Given the description of an element on the screen output the (x, y) to click on. 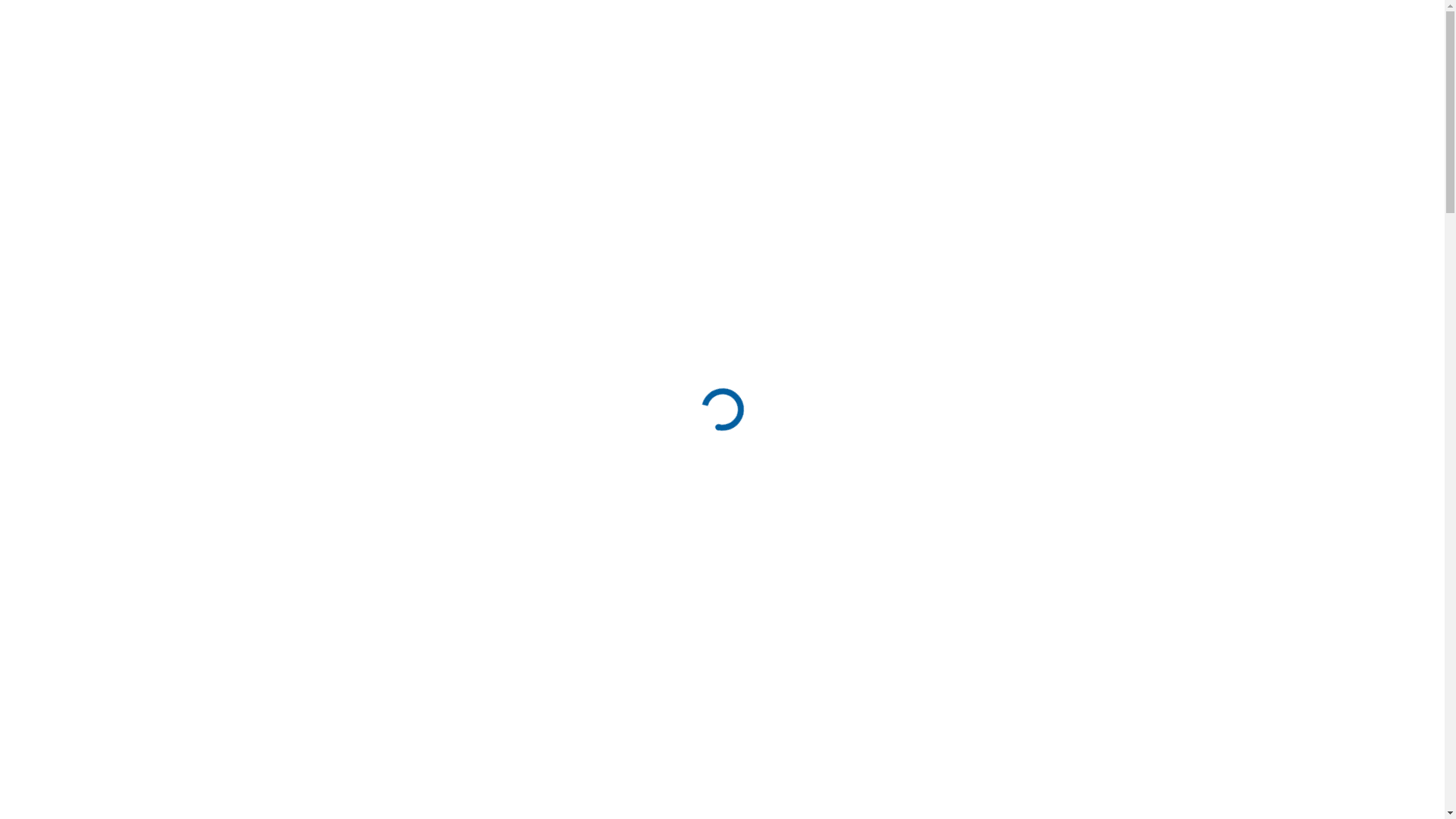
Domain Portfolio Management Element type: text (706, 43)
Managed Hosting Element type: text (984, 43)
Managed Services Element type: text (862, 43)
Home | Sapo Blue Pty Ltd Element type: text (530, 43)
